Given the description of an element on the screen output the (x, y) to click on. 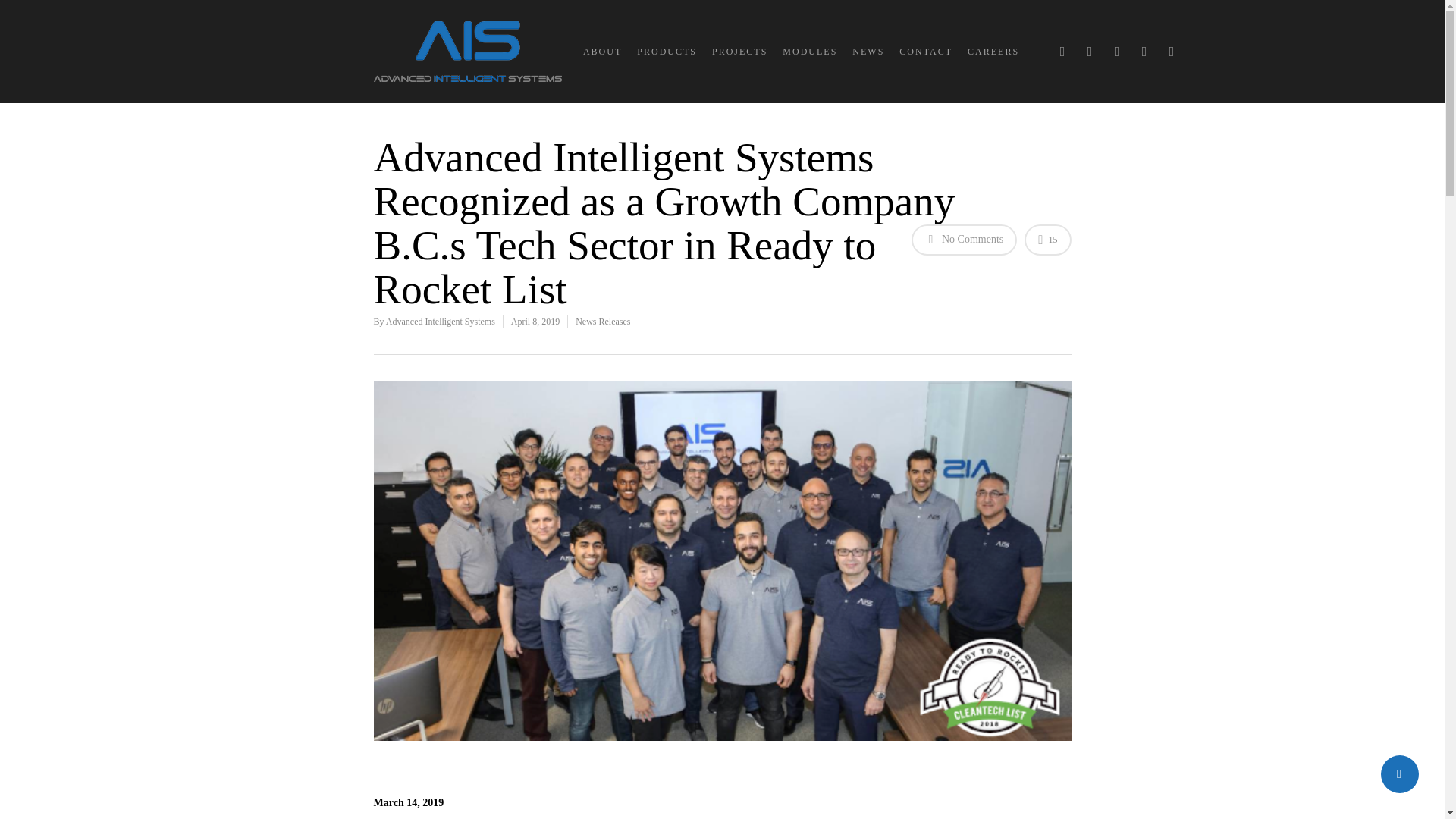
MODULES (810, 51)
CAREERS (993, 51)
News Releases (602, 321)
NEWS (867, 51)
Advanced Intelligent Systems (440, 321)
ABOUT (602, 51)
Love this (1047, 239)
CONTACT (925, 51)
PROJECTS (739, 51)
PRODUCTS (667, 51)
15 (1047, 239)
Posts by Advanced Intelligent Systems (440, 321)
No Comments (964, 239)
